Given the description of an element on the screen output the (x, y) to click on. 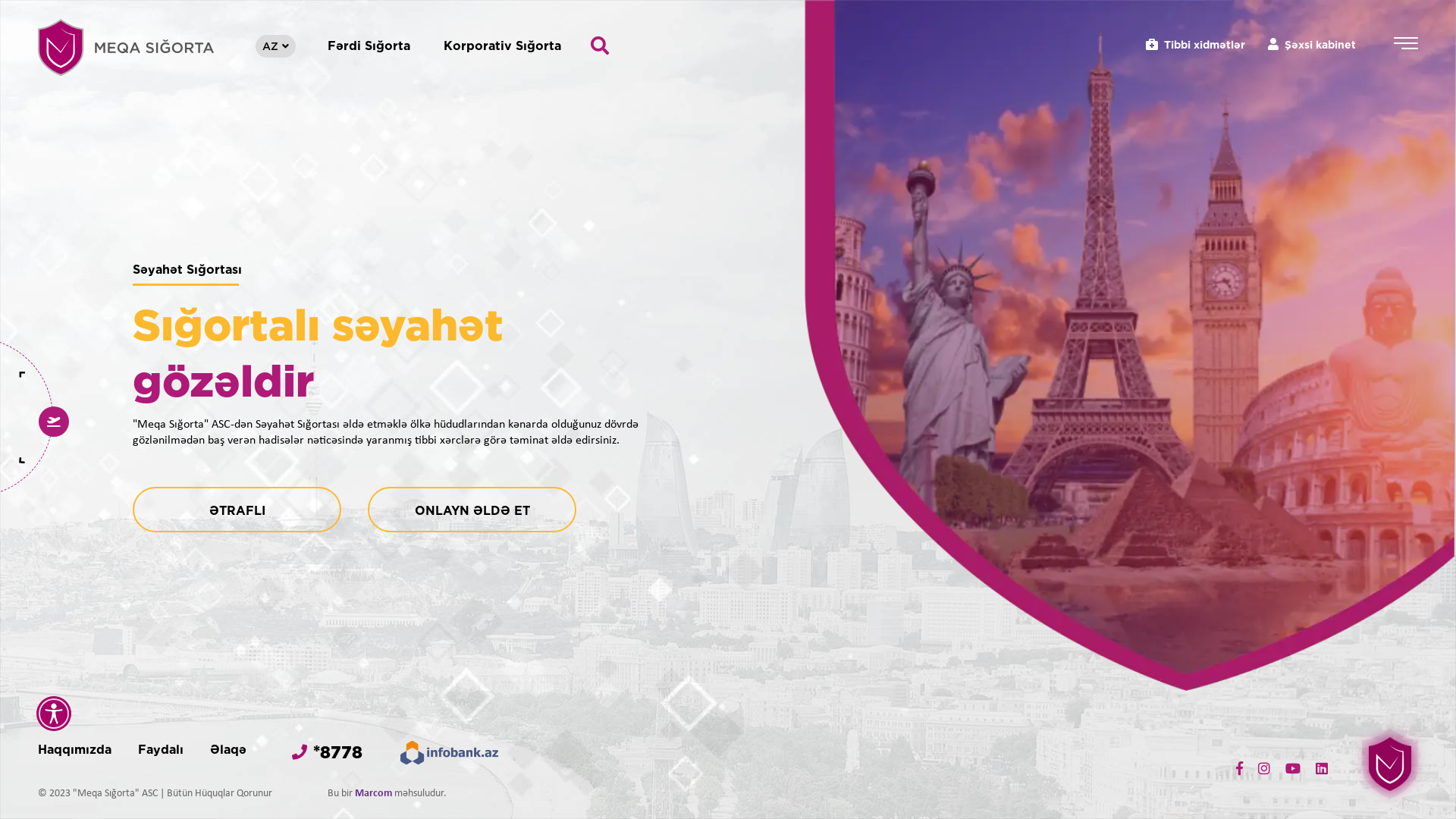
1 Element type: text (41, 369)
1 Element type: text (41, 394)
1 Element type: text (41, 335)
Marcom Element type: text (373, 793)
